Given the description of an element on the screen output the (x, y) to click on. 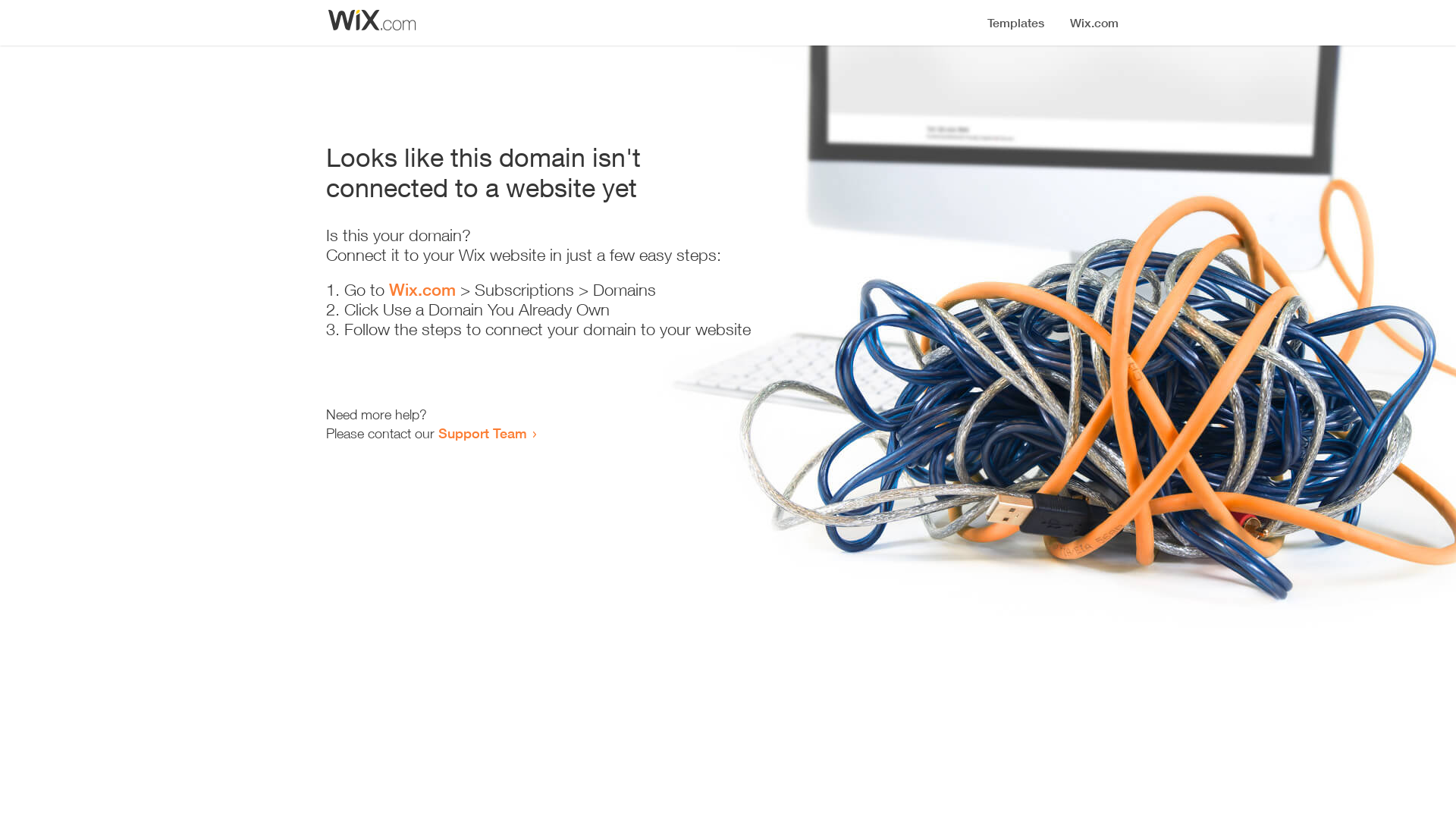
Support Team Element type: text (482, 432)
Wix.com Element type: text (422, 289)
